Given the description of an element on the screen output the (x, y) to click on. 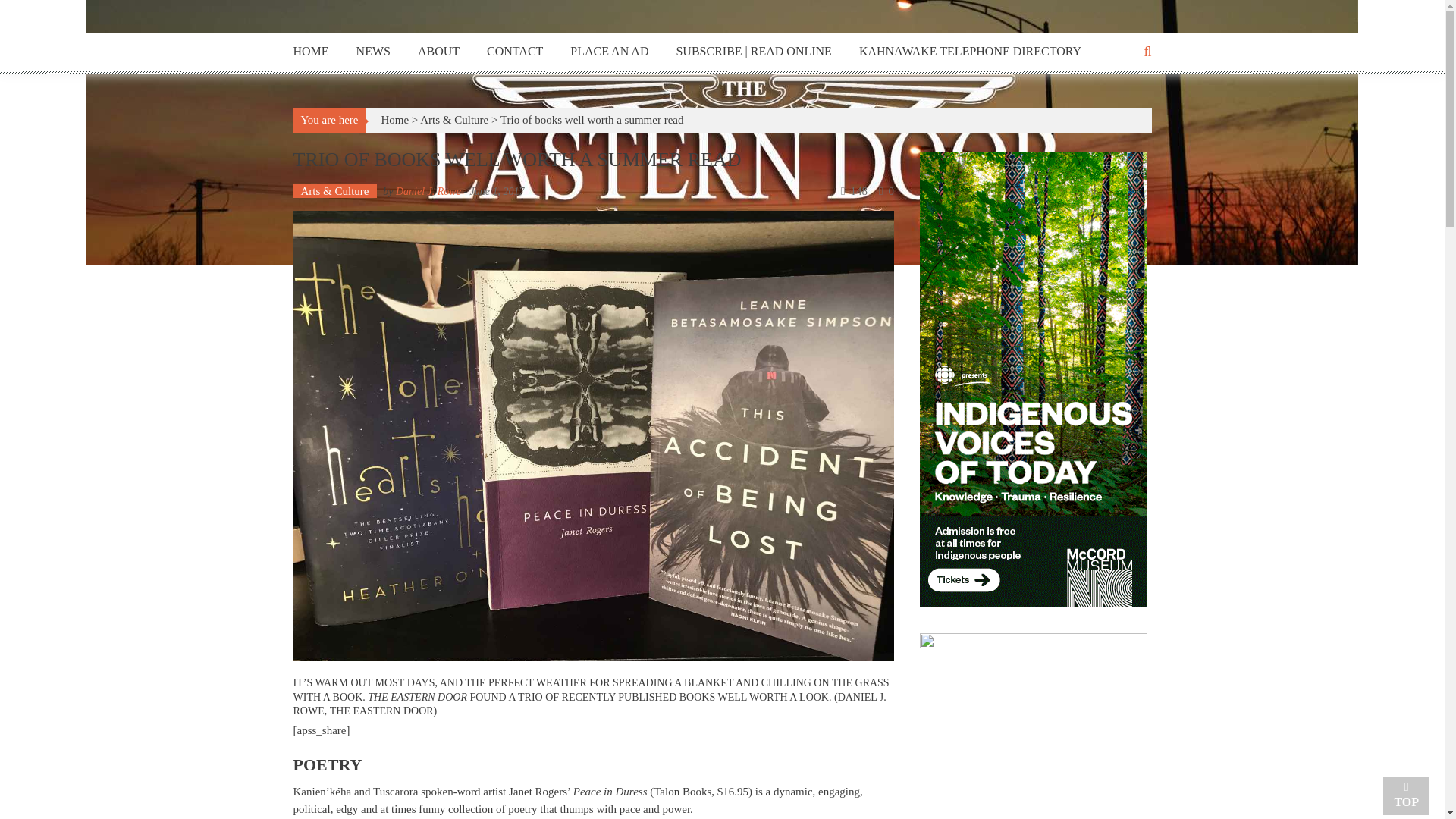
Daniel J. Rowe (428, 191)
HOME (310, 51)
KAHNAWAKE TELEPHONE DIRECTORY (970, 51)
NEWS (373, 51)
Search (862, 422)
ABOUT (438, 51)
CONTACT (514, 51)
PLACE AN AD (608, 51)
